Given the description of an element on the screen output the (x, y) to click on. 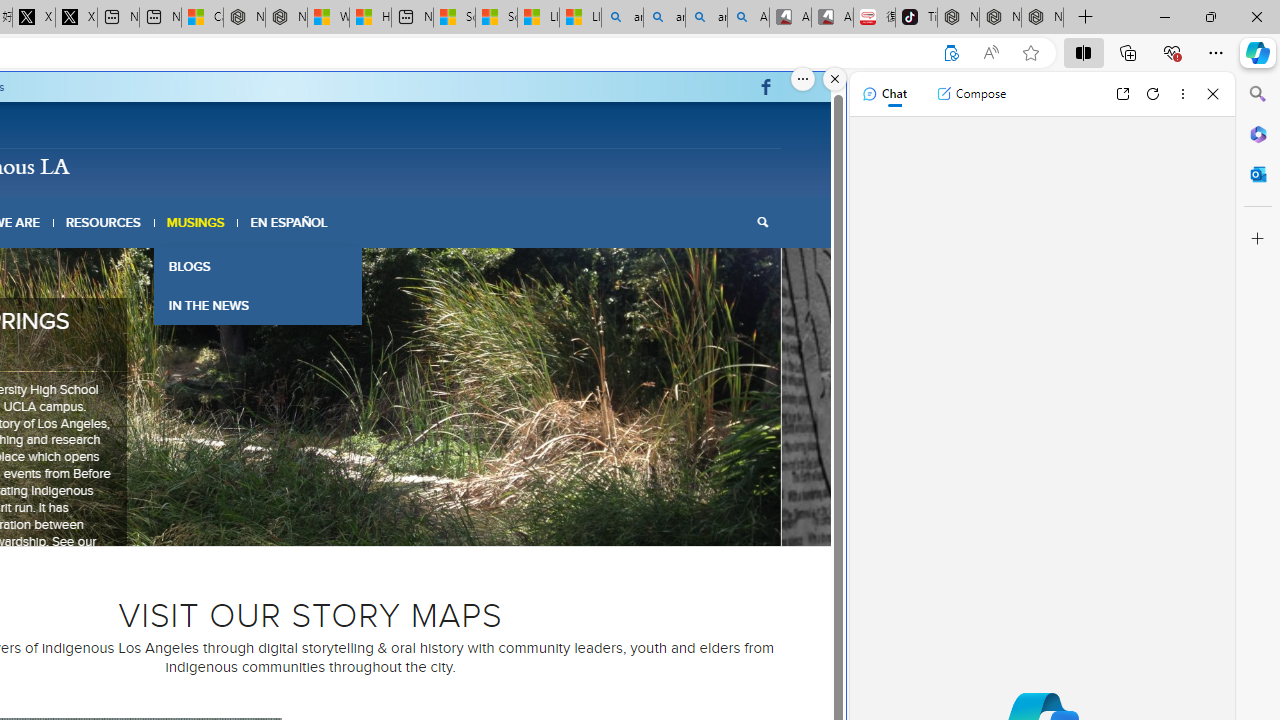
5 (318, 520)
6 (333, 520)
4 (301, 520)
Huge shark washes ashore at New York City beach | Watch (369, 17)
Nordace - Best Sellers (958, 17)
Link to Facebook (765, 87)
MUSINGS BLOGS IN THE NEWS (195, 222)
Microsoft 365 (1258, 133)
Open link in new tab (1122, 93)
